Given the description of an element on the screen output the (x, y) to click on. 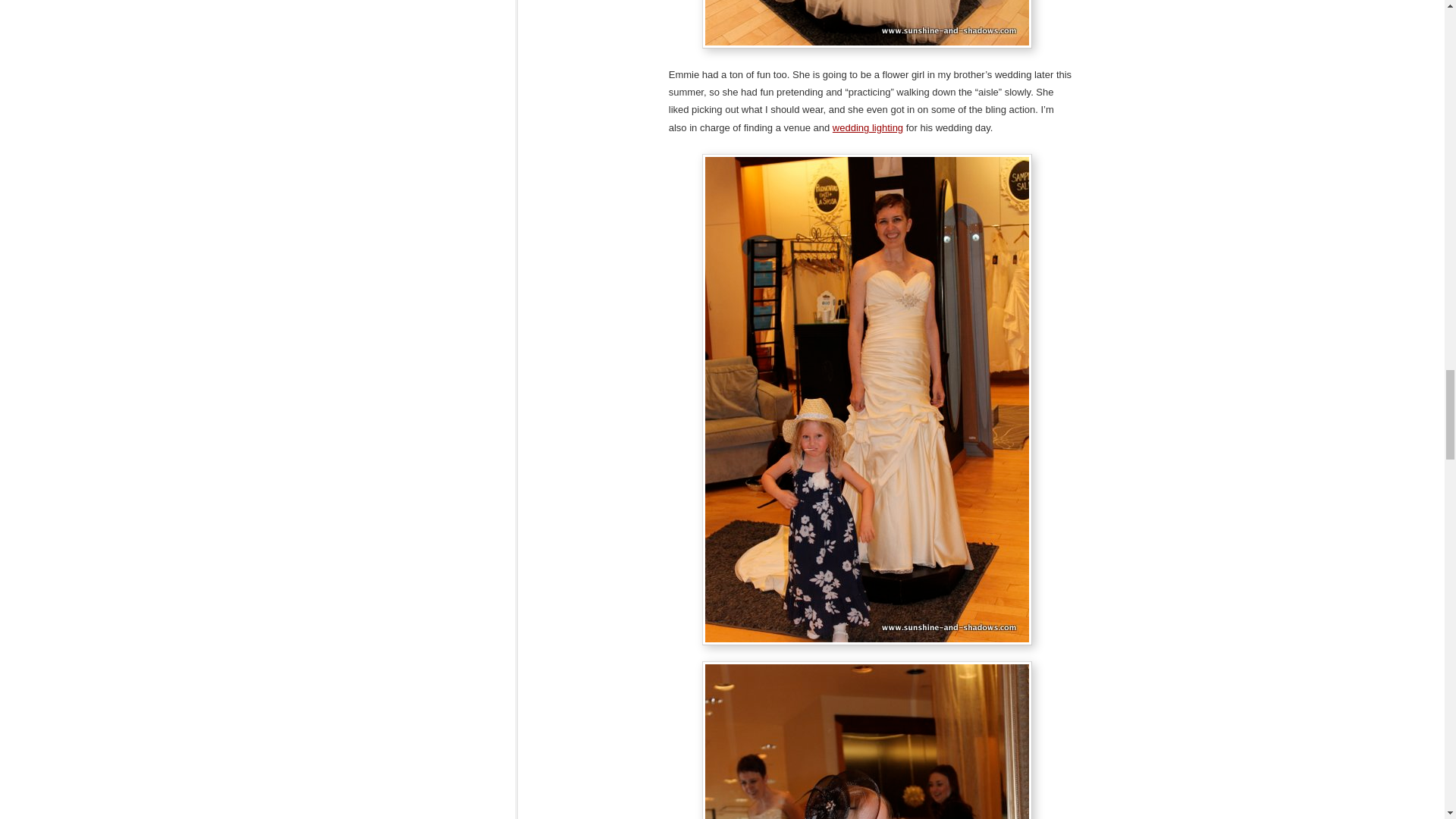
wedding lighting (867, 127)
